Given the description of an element on the screen output the (x, y) to click on. 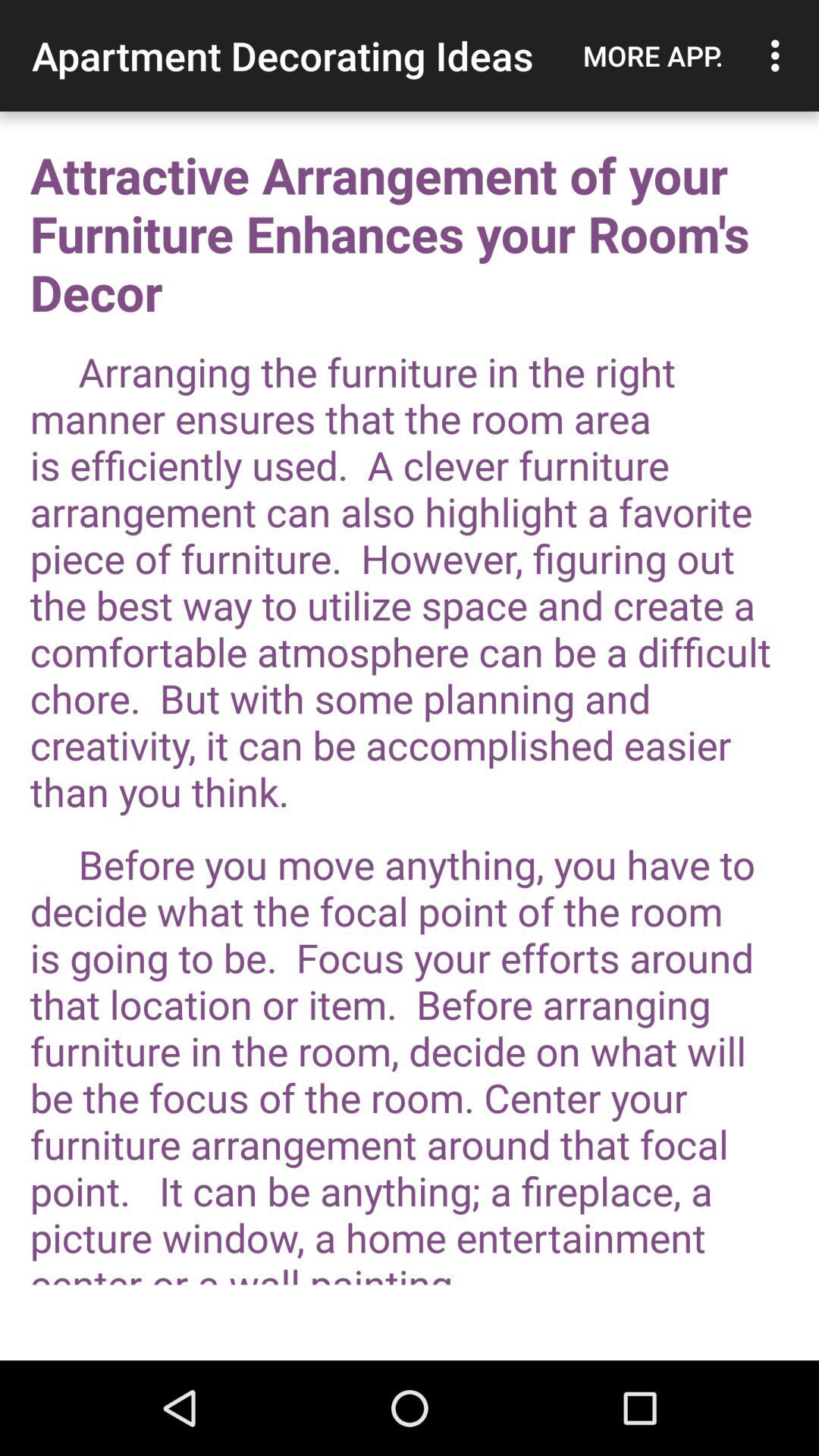
turn off the app above attractive arrangement of (653, 55)
